Given the description of an element on the screen output the (x, y) to click on. 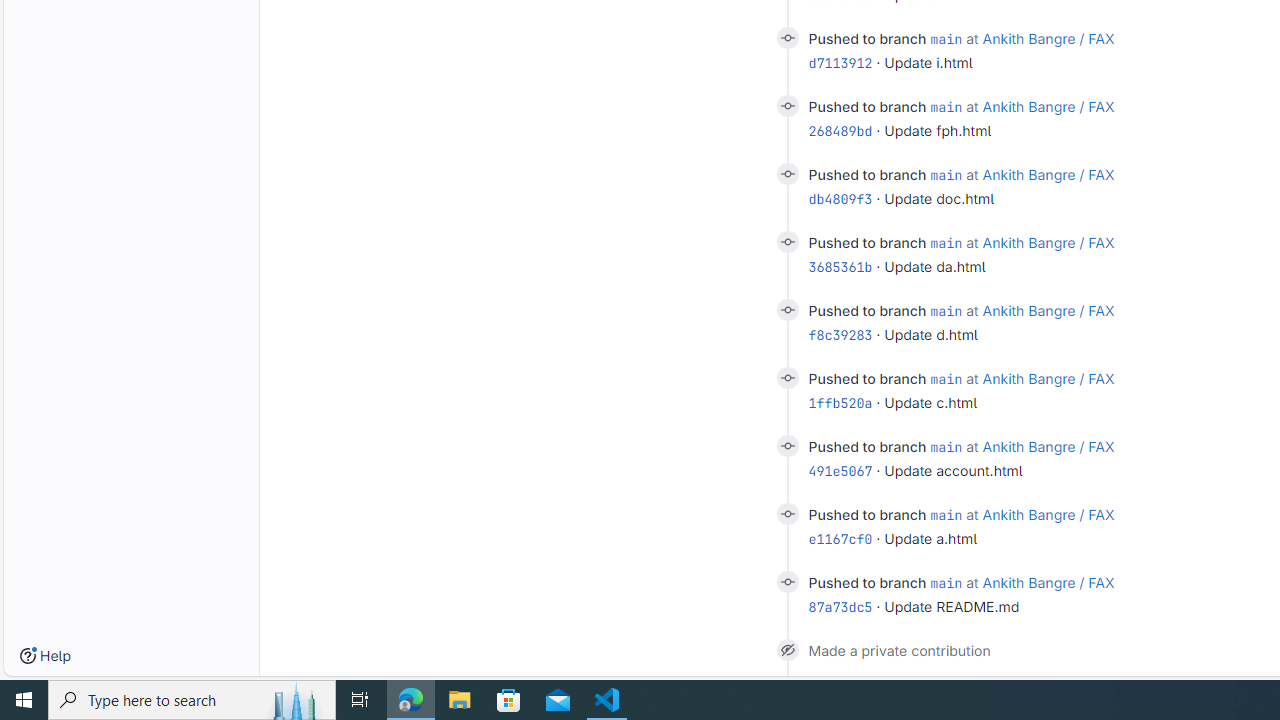
Class: s14 (786, 581)
db4809f3 (839, 199)
e1167cf0 (839, 538)
3685361b (839, 266)
Ankith Bangre / FAX (1047, 582)
491e5067 (839, 471)
268489bd (839, 130)
f8c39283 (839, 335)
d7113912 (839, 63)
87a73dc5 (839, 607)
1ffb520a (839, 402)
Help (45, 655)
Class: s14 icon (786, 649)
main (946, 582)
